Given the description of an element on the screen output the (x, y) to click on. 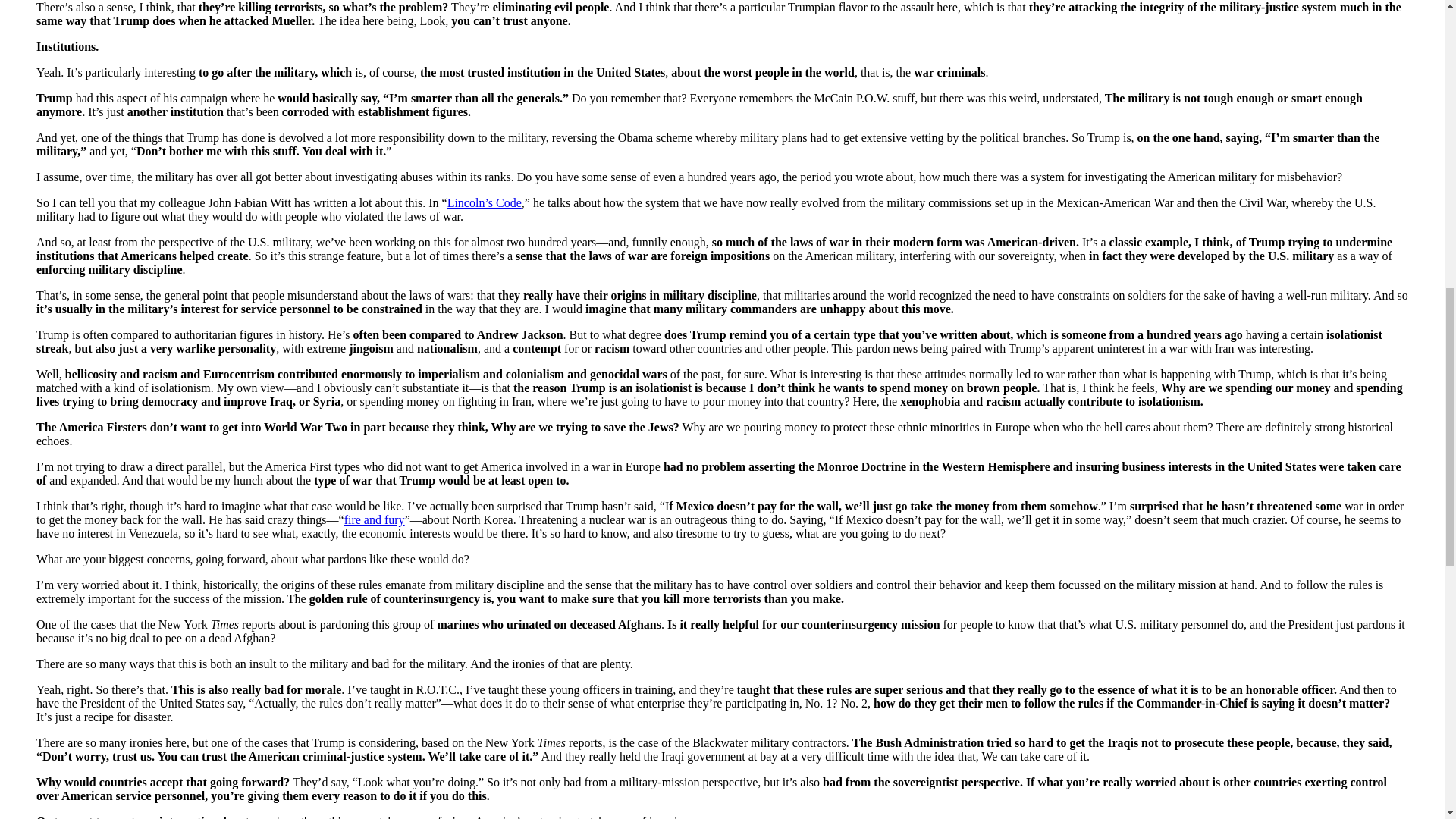
fire and fury (373, 519)
